Given the description of an element on the screen output the (x, y) to click on. 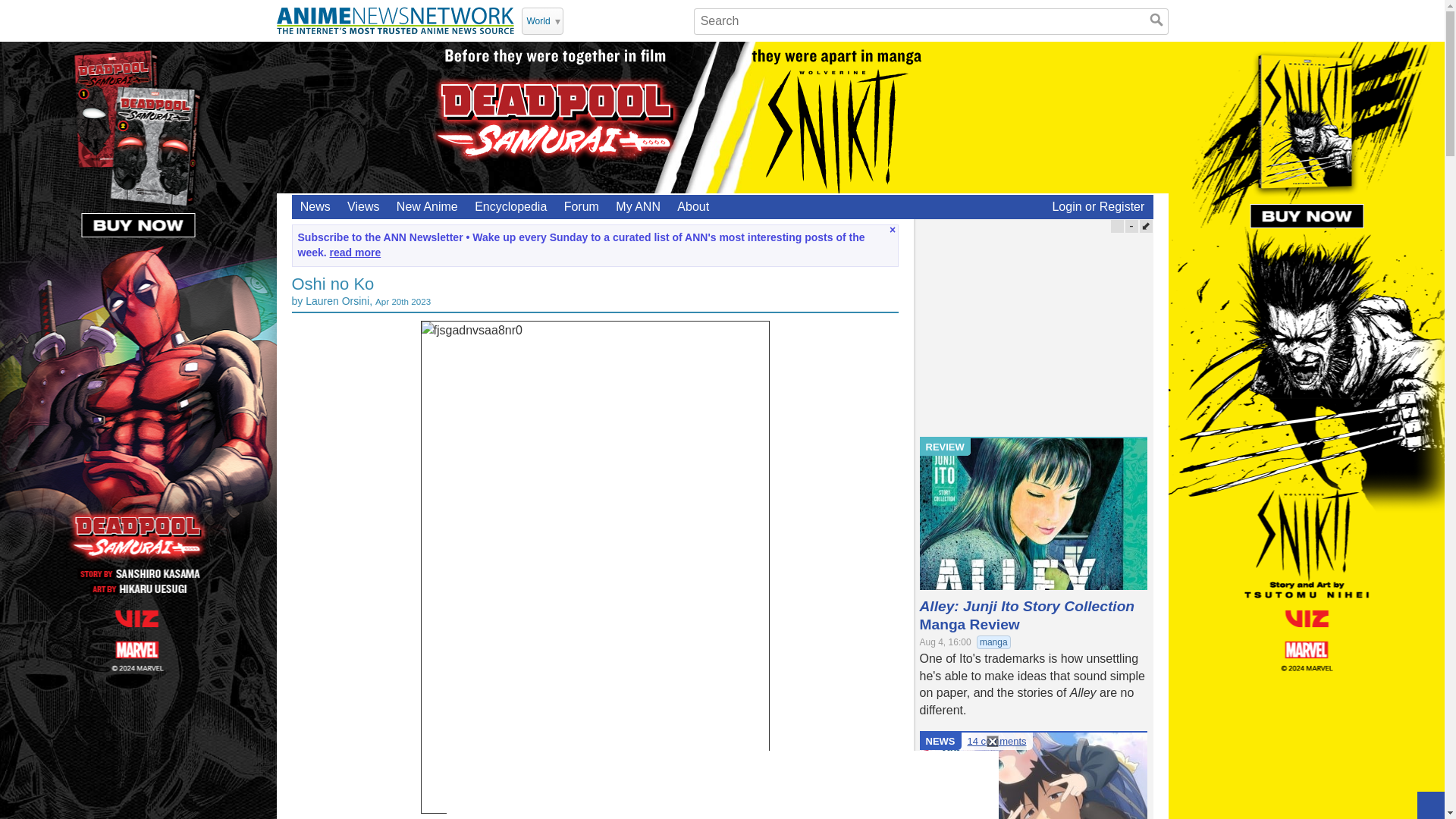
Facebook (617, 20)
Return to Homepage (394, 20)
Twitter (577, 20)
Choose Your Edition (542, 21)
Instagram (636, 20)
TikTok (656, 20)
Bluesky (675, 20)
Youtube (597, 20)
